Given the description of an element on the screen output the (x, y) to click on. 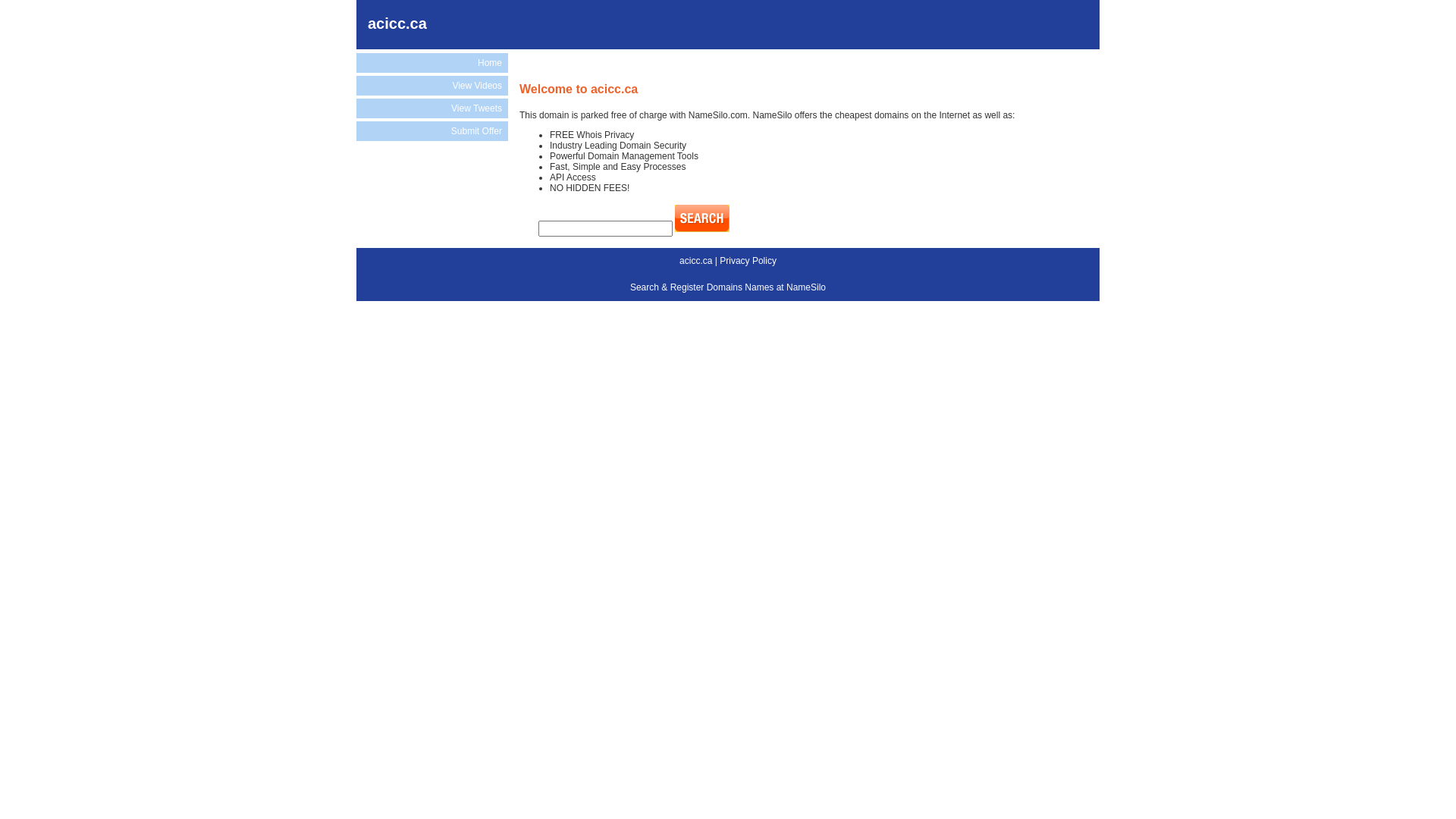
Privacy Policy Element type: text (747, 260)
Home Element type: text (432, 62)
Submit Offer Element type: text (432, 131)
View Videos Element type: text (432, 85)
View Tweets Element type: text (432, 108)
Search & Register Domains Names at NameSilo Element type: text (727, 287)
